Given the description of an element on the screen output the (x, y) to click on. 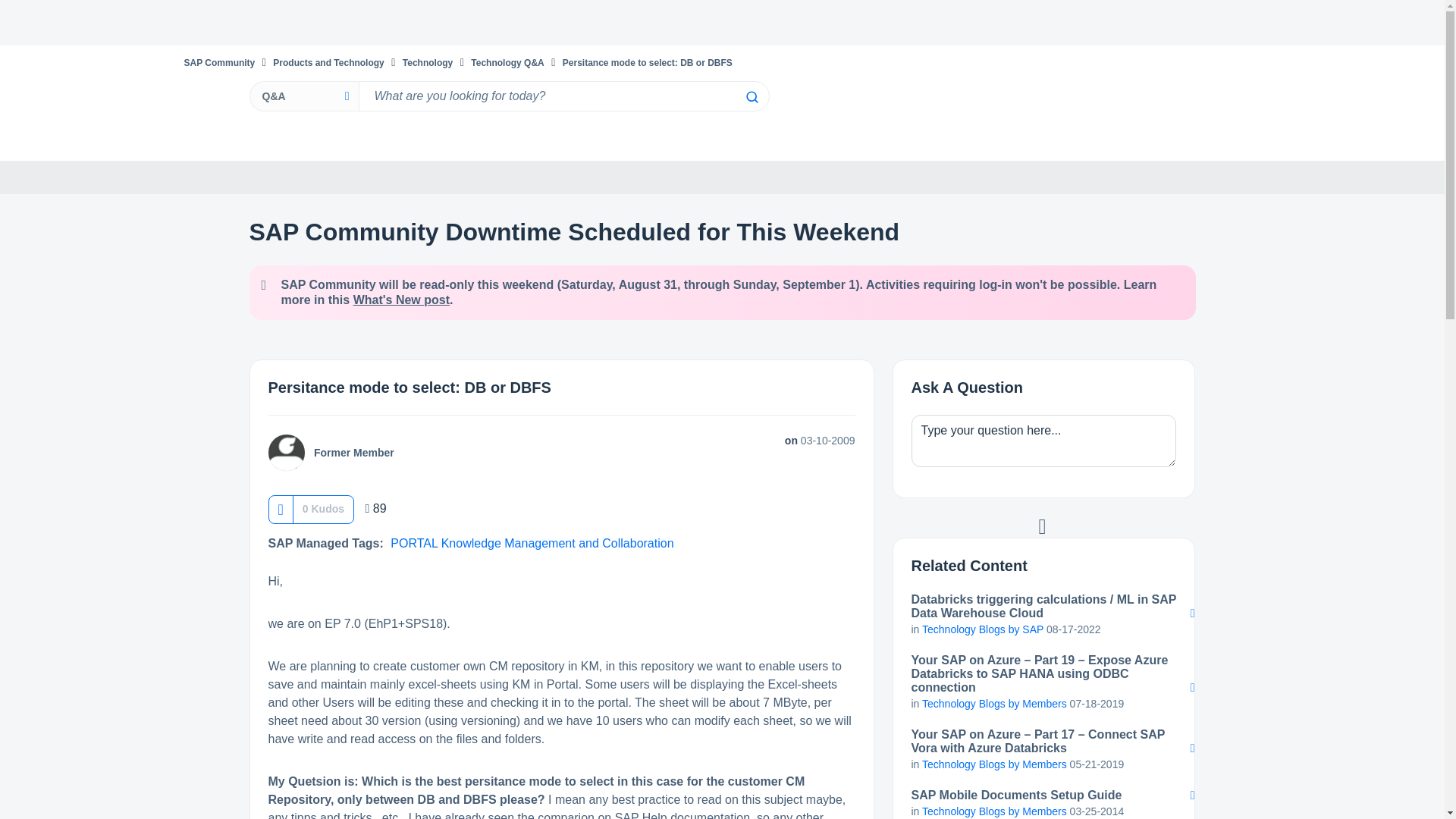
Search (563, 96)
PORTAL Knowledge Management and Collaboration (531, 543)
Search Granularity (303, 96)
Products and Technology (328, 62)
Search (750, 96)
What's New post (401, 299)
The total number of kudos this post has received. (323, 508)
Search (750, 96)
SAP Community (218, 62)
Search (750, 96)
